Given the description of an element on the screen output the (x, y) to click on. 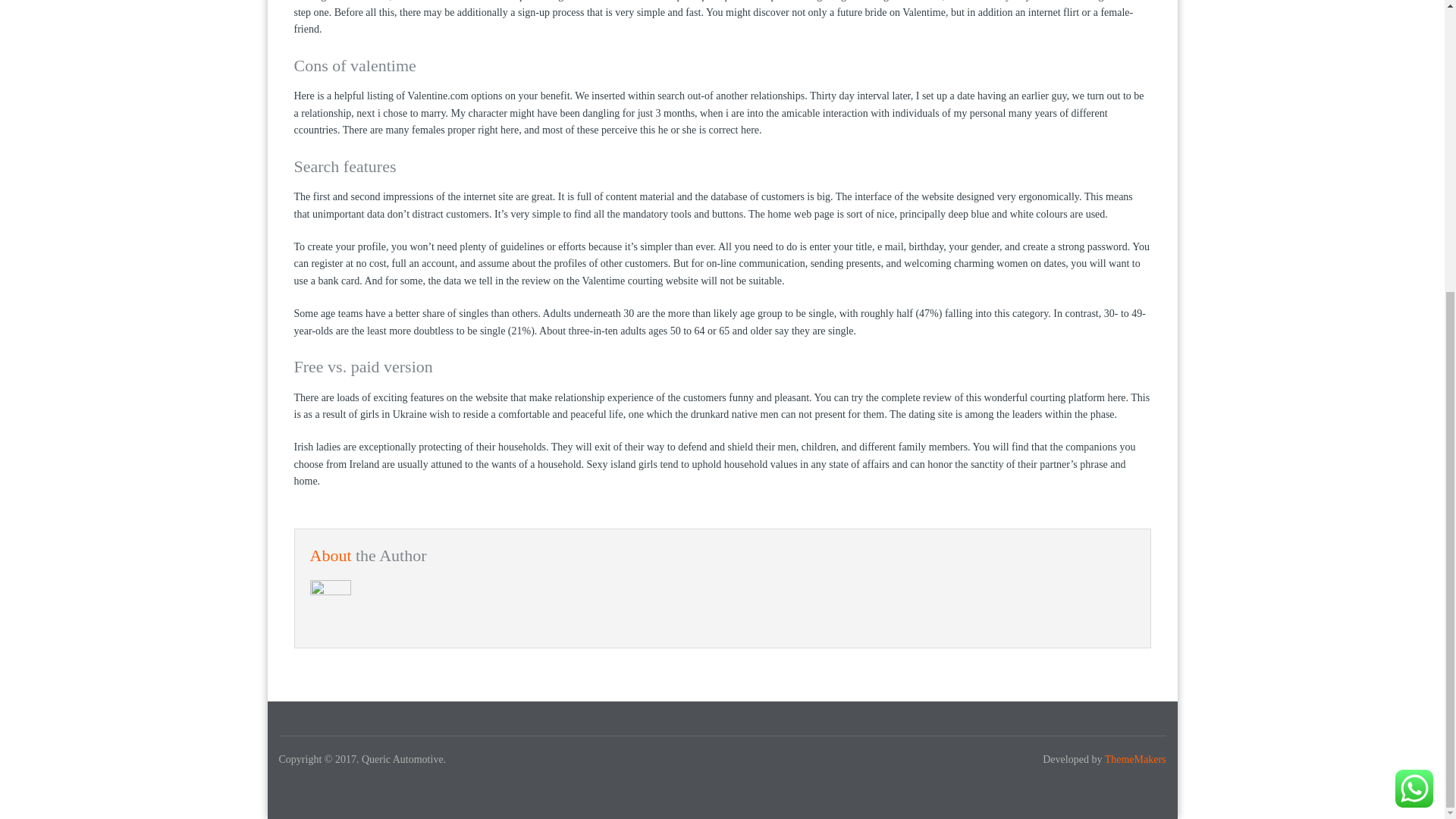
ThemeMakers (1135, 758)
